Given the description of an element on the screen output the (x, y) to click on. 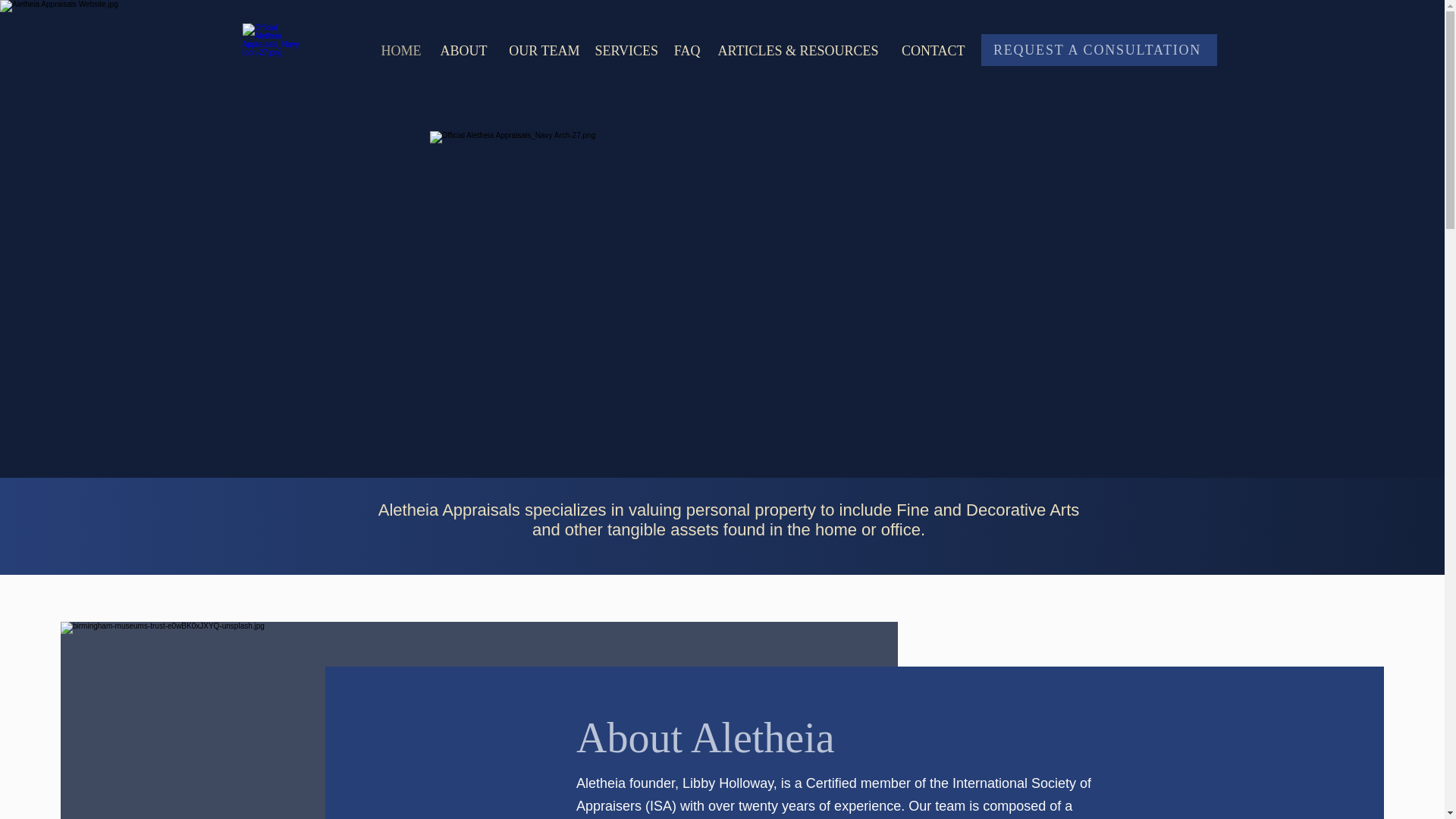
OUR TEAM (540, 49)
CONTACT (928, 49)
ABOUT (462, 49)
FAQ (686, 49)
REQUEST A CONSULTATION (1099, 50)
SERVICES (625, 49)
HOME (398, 49)
